Given the description of an element on the screen output the (x, y) to click on. 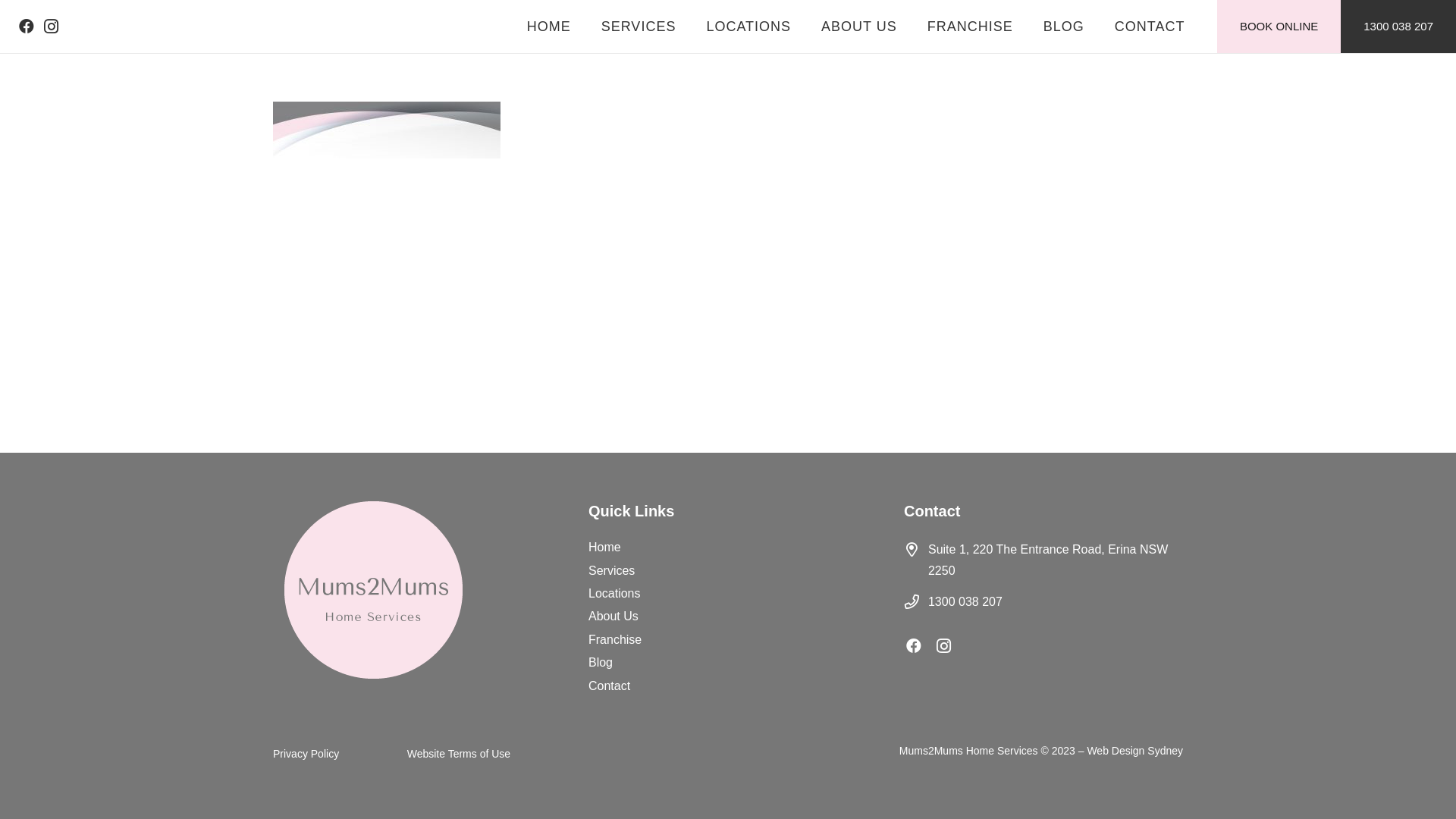
Instagram Element type: hover (951, 645)
Website Terms of Use Element type: text (458, 753)
Privacy Policy Element type: text (305, 753)
Facebook Element type: hover (26, 26)
BOOK ONLINE Element type: text (1278, 26)
Blog Element type: text (600, 661)
SERVICES Element type: text (638, 26)
About Us Element type: text (613, 615)
FRANCHISE Element type: text (970, 26)
BLOG Element type: text (1063, 26)
Home Element type: text (604, 546)
Facebook Element type: hover (921, 645)
Locations Element type: text (614, 592)
Franchise Element type: text (614, 639)
Services Element type: text (611, 570)
ABOUT US Element type: text (859, 26)
Contact Element type: text (609, 685)
Instagram Element type: hover (50, 26)
HOME Element type: text (548, 26)
Web Design Sydney Element type: text (1134, 750)
CONTACT Element type: text (1149, 26)
LOCATIONS Element type: text (748, 26)
